Given the description of an element on the screen output the (x, y) to click on. 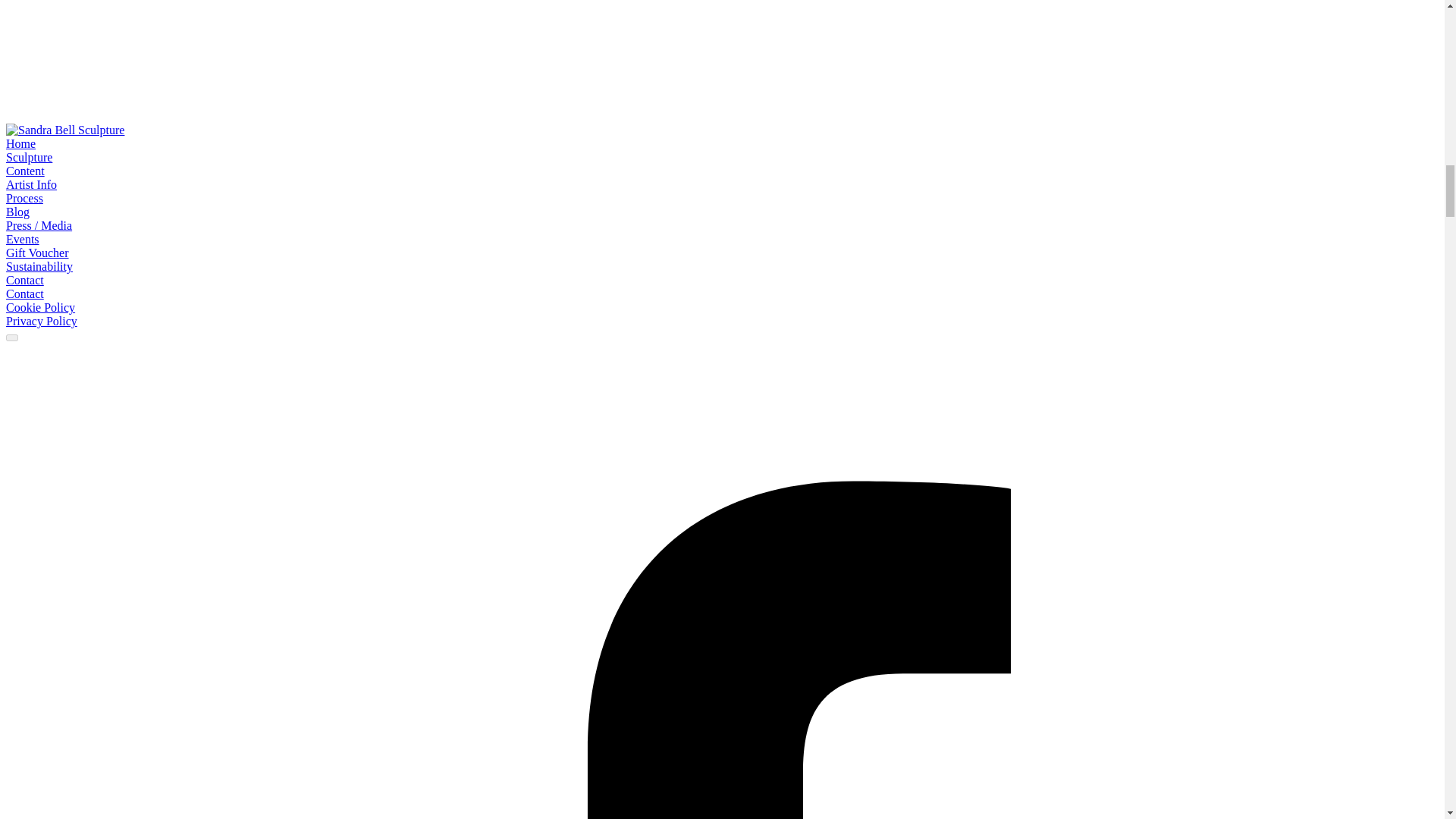
Contact (24, 279)
Privacy Policy (41, 320)
Gift Voucher (36, 252)
Cookie Policy (40, 307)
Blog (17, 211)
Sculpture (28, 156)
Content (25, 170)
Process (24, 197)
Home (19, 143)
Contact (24, 293)
Events (22, 238)
Sustainability (38, 266)
Artist Info (30, 184)
